Given the description of an element on the screen output the (x, y) to click on. 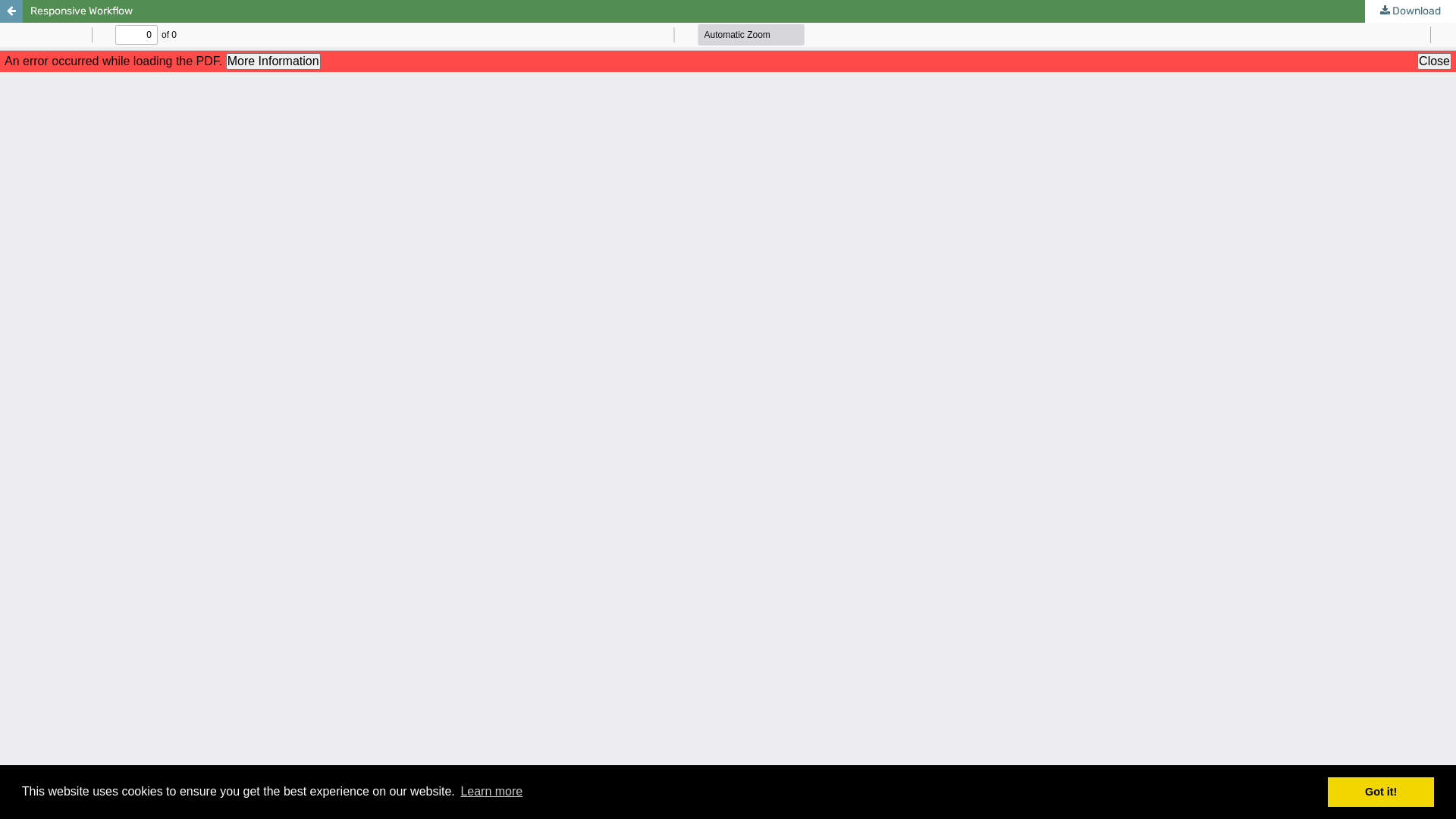
Got it! Element type: text (1380, 791)
Learn more Element type: text (491, 791)
